Given the description of an element on the screen output the (x, y) to click on. 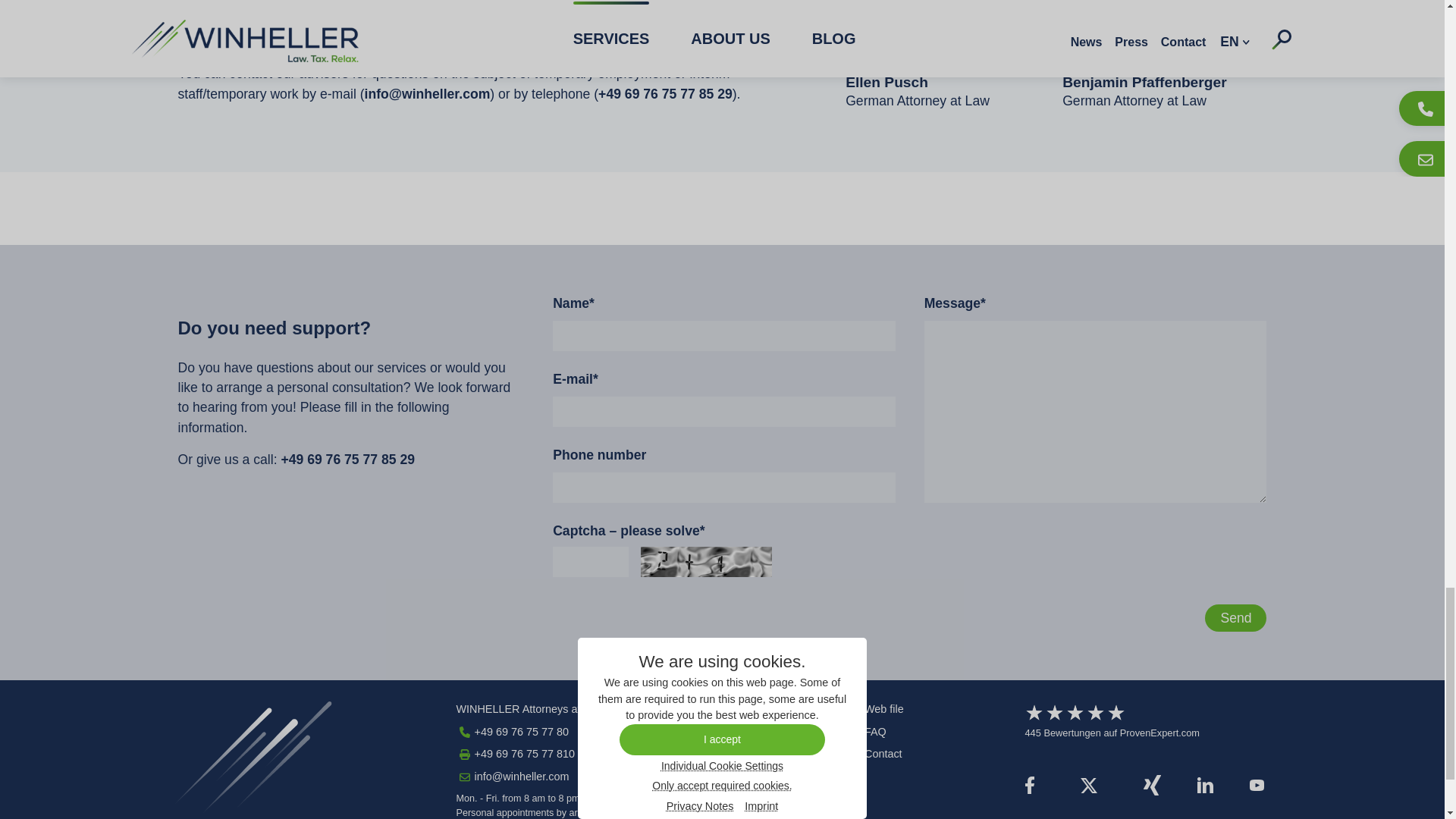
Send (1235, 617)
